Given the description of an element on the screen output the (x, y) to click on. 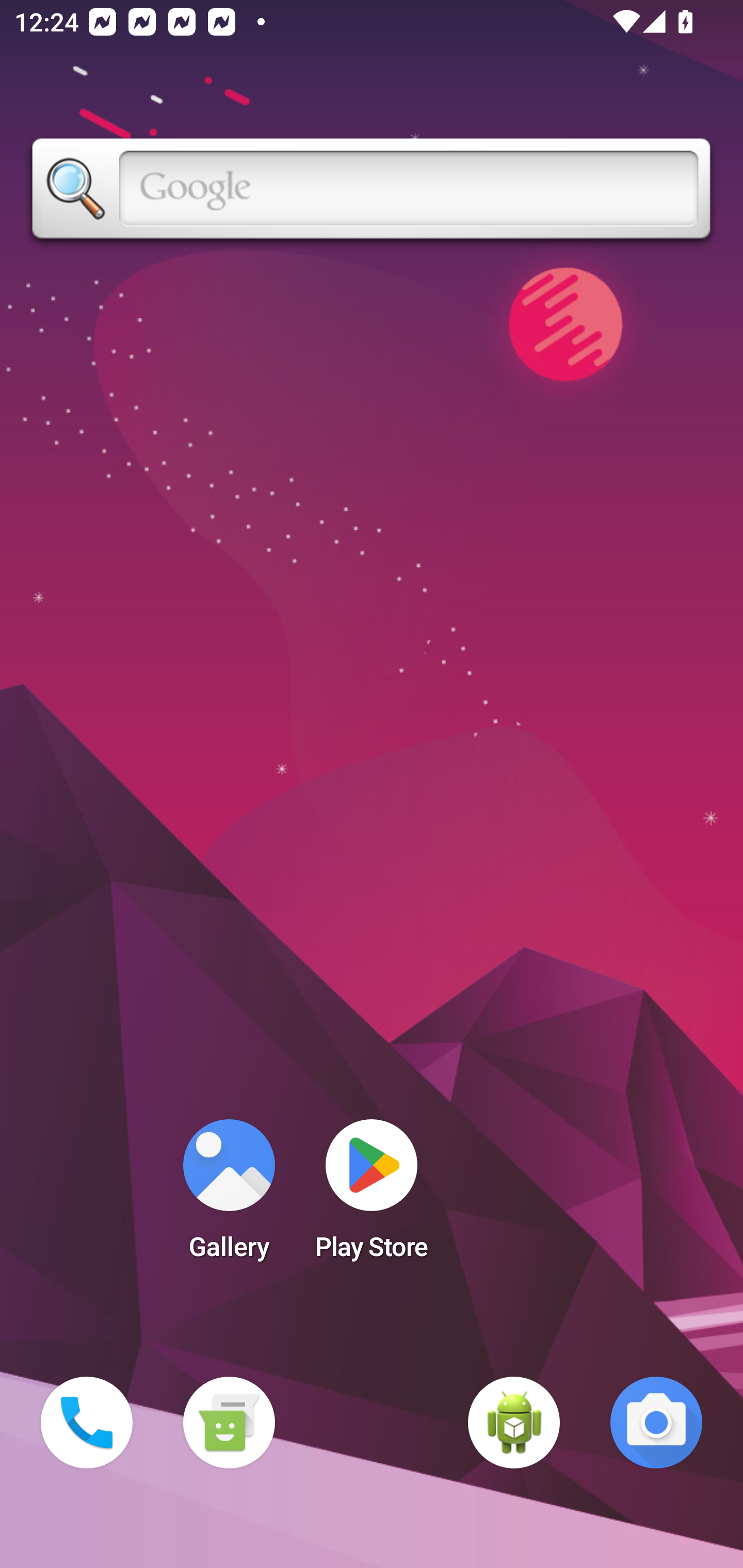
Gallery (228, 1195)
Play Store (371, 1195)
Phone (86, 1422)
Messaging (228, 1422)
WebView Browser Tester (513, 1422)
Camera (656, 1422)
